Given the description of an element on the screen output the (x, y) to click on. 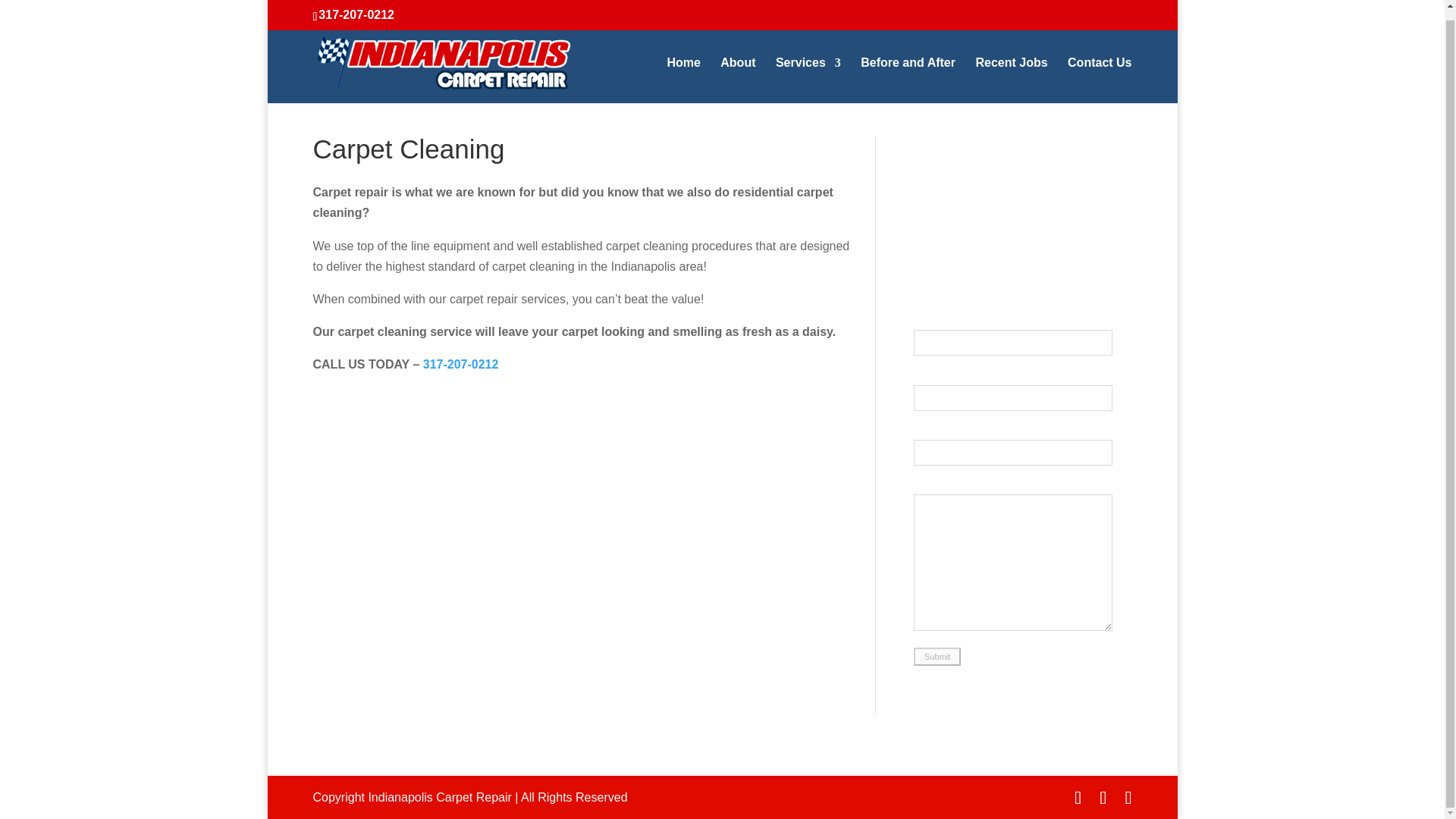
317-207-0212 (356, 5)
Services (808, 70)
Submit (937, 656)
Contact Us (1099, 70)
Submit (937, 656)
Recent Jobs (1010, 70)
317-207-0212 (461, 364)
Before and After (907, 70)
